Given the description of an element on the screen output the (x, y) to click on. 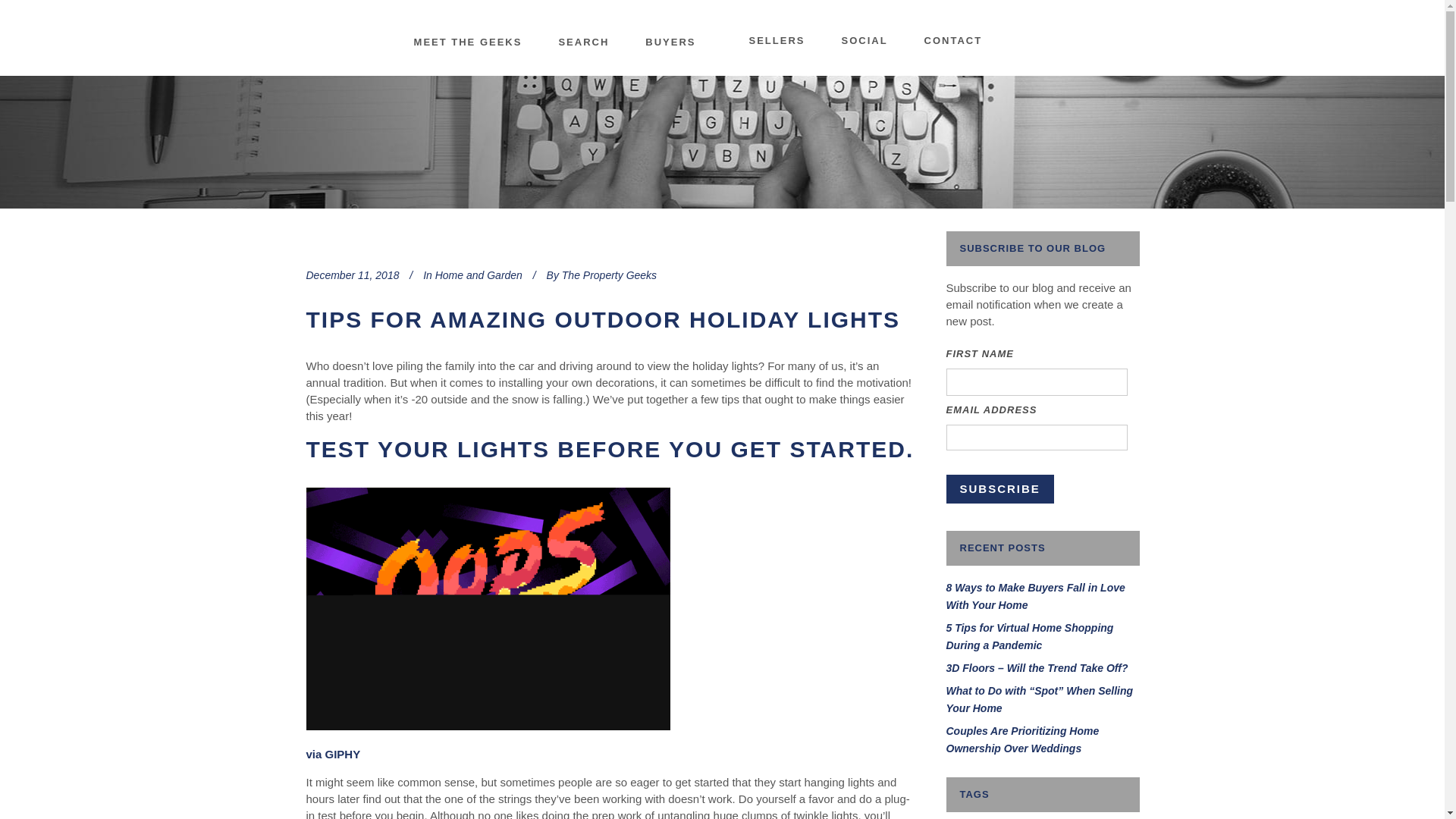
Subscribe (1000, 489)
Sellers (777, 40)
CONTACT (953, 40)
MEET THE GEEKS (468, 42)
SELLERS (777, 40)
Social (863, 40)
SEARCH (583, 42)
Search (583, 42)
BUYERS (670, 42)
SOCIAL (863, 40)
